Given the description of an element on the screen output the (x, y) to click on. 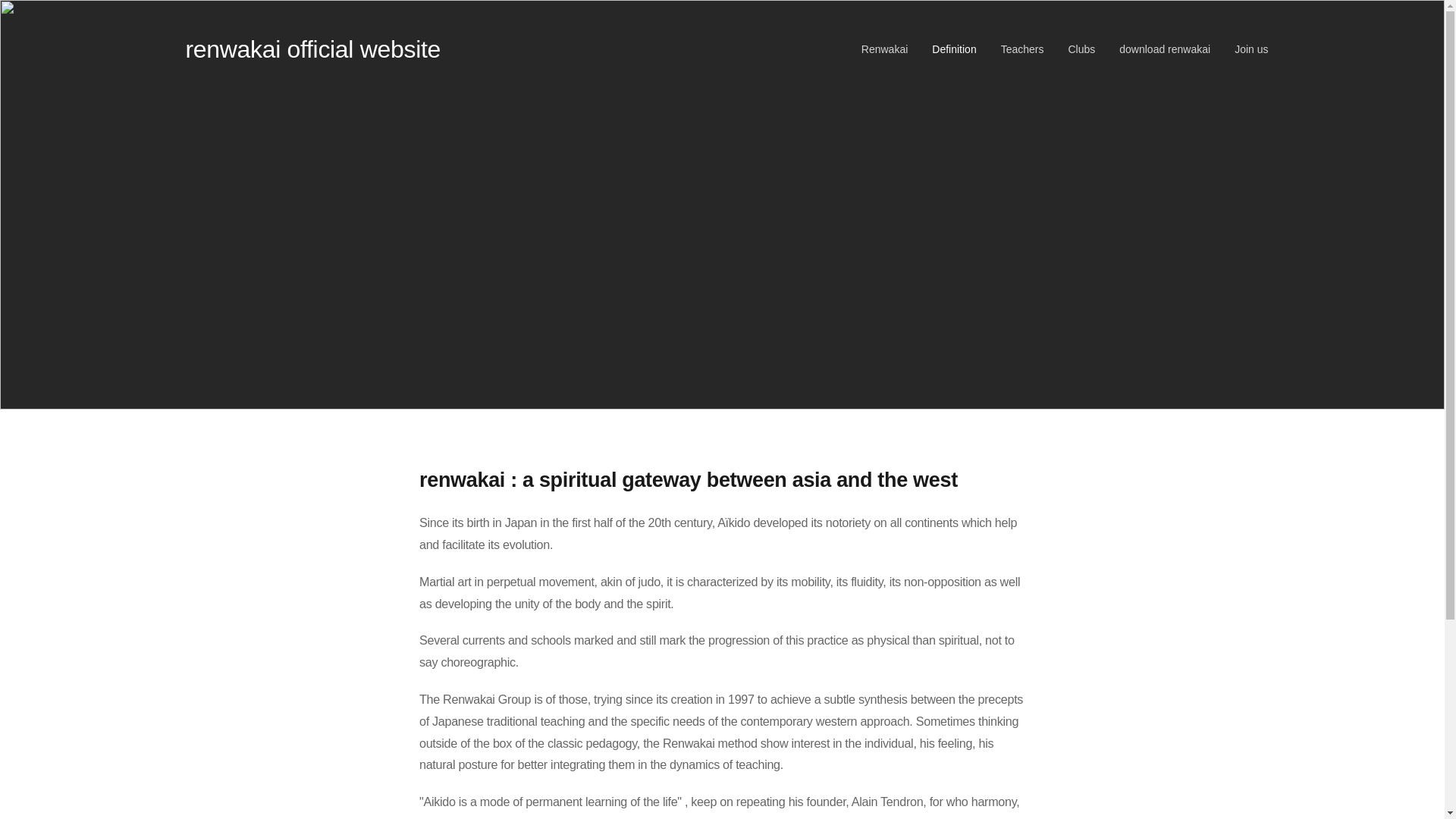
Renwakai (888, 48)
Teachers (1022, 48)
Clubs (1080, 48)
Definition (954, 48)
renwakai official website (310, 49)
download renwakai (1164, 48)
Join us (1245, 48)
